Given the description of an element on the screen output the (x, y) to click on. 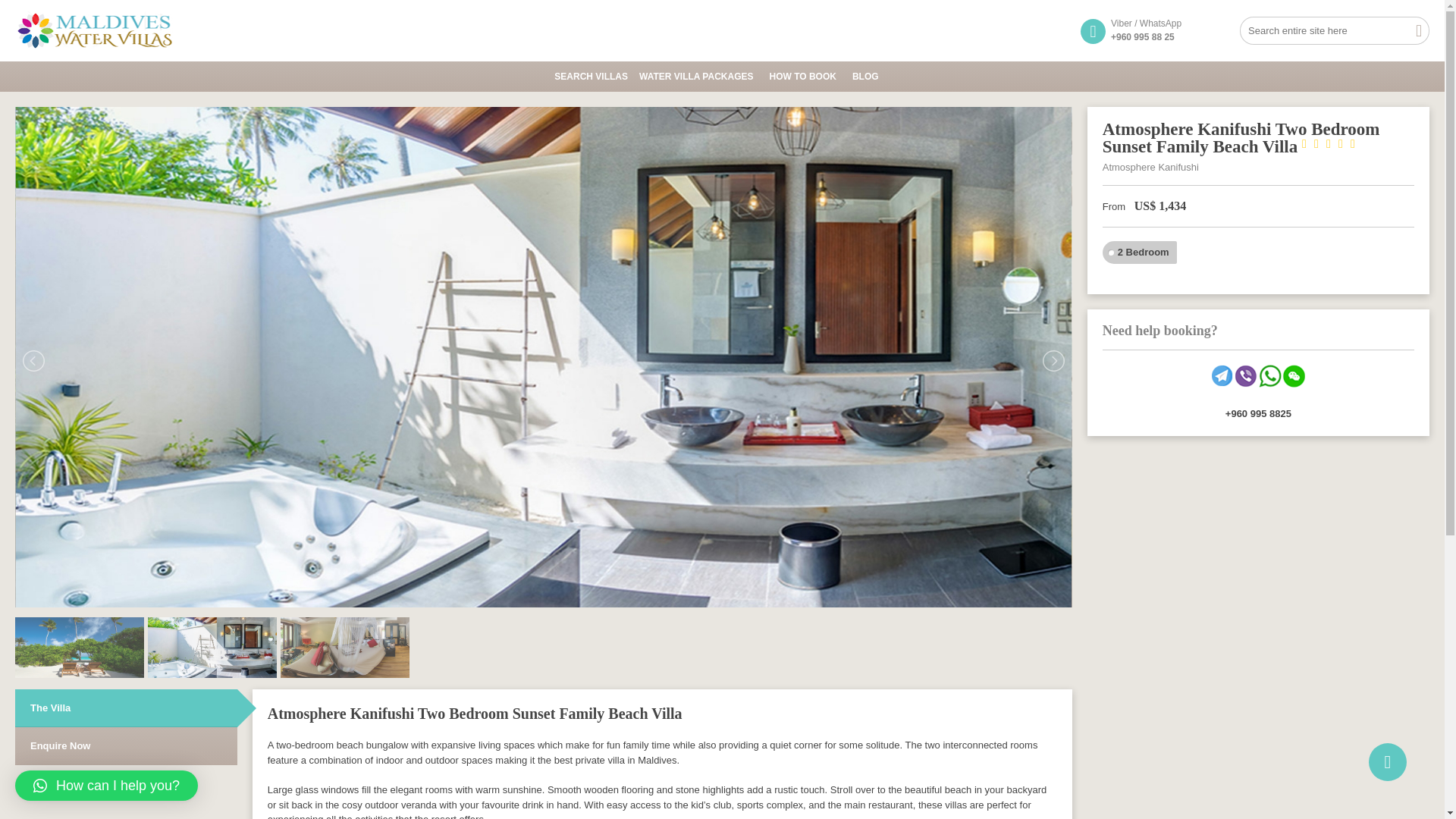
SEARCH VILLAS (596, 75)
WATER VILLA PACKAGES (703, 75)
HOW TO BOOK (809, 75)
BLOG (870, 75)
